Given the description of an element on the screen output the (x, y) to click on. 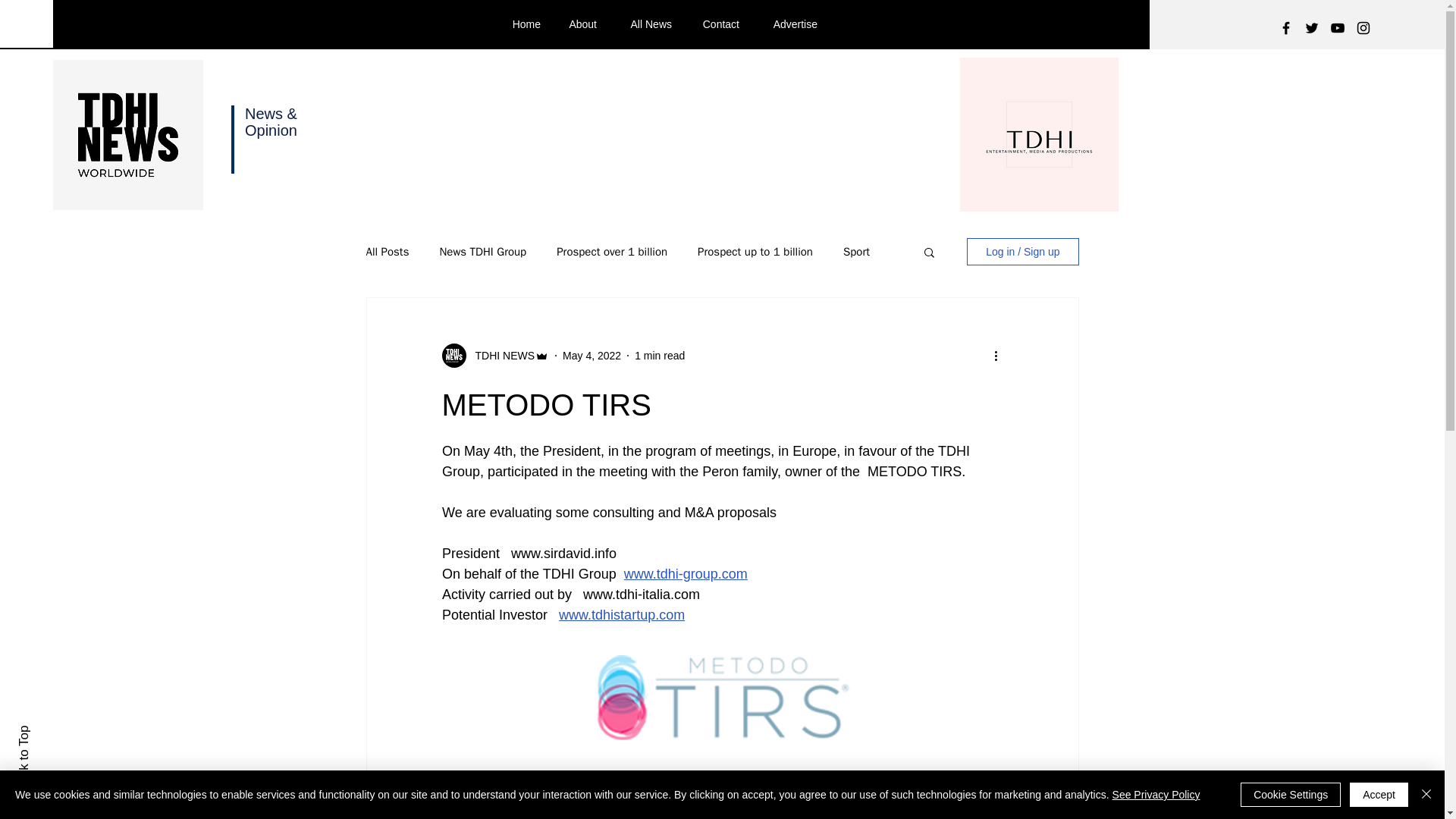
News TDHI Group (482, 251)
Accept (1378, 794)
Prospect up to 1 billion (754, 251)
May 4, 2022 (591, 354)
Prospect over 1 billion (611, 251)
www.tdhi-group.com (684, 573)
See Privacy Policy (1155, 794)
Sport (856, 251)
TDHI NEWS  (499, 355)
All Posts (387, 251)
